Given the description of an element on the screen output the (x, y) to click on. 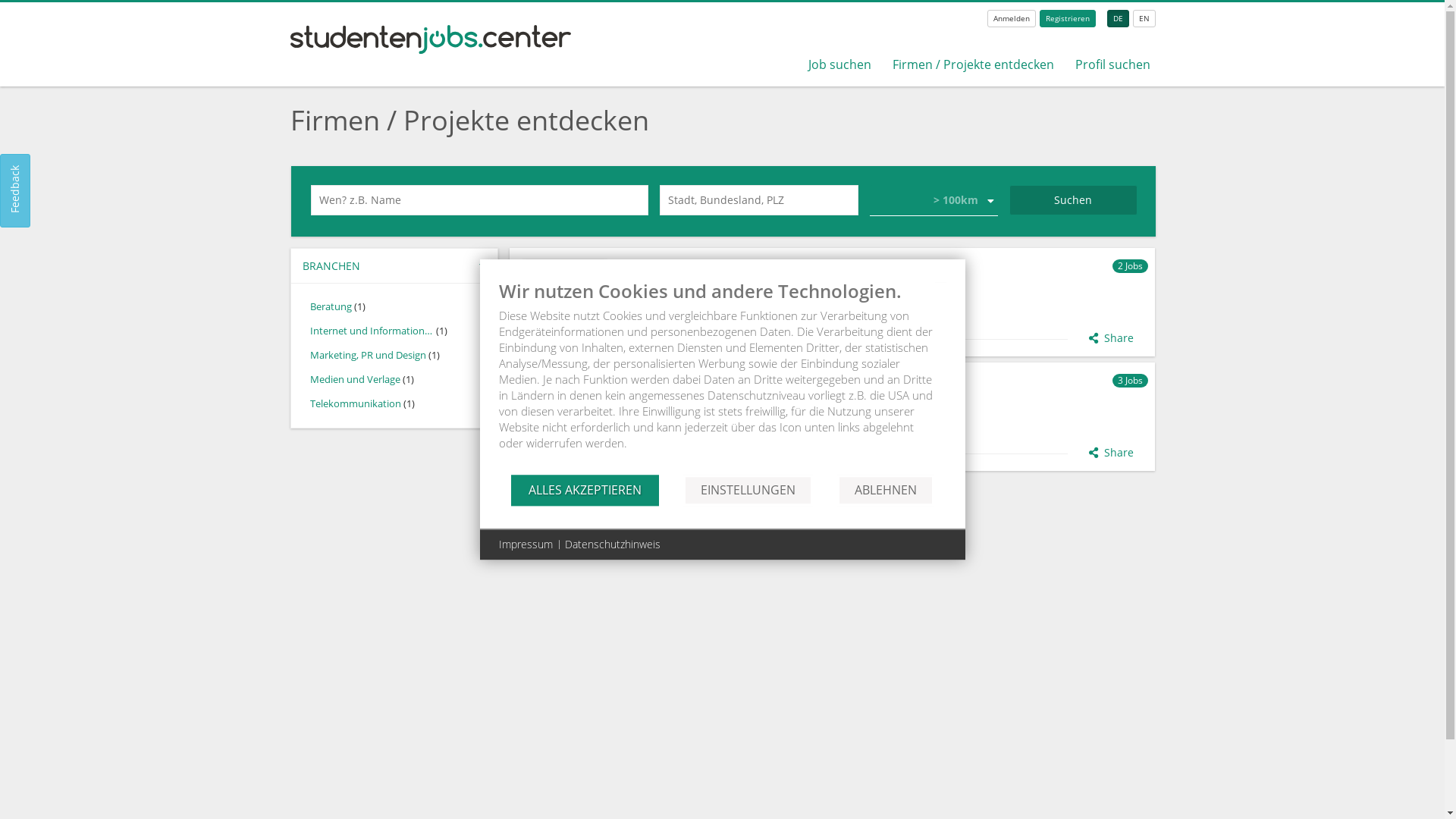
Firmen / Projekte entdecken Element type: text (972, 64)
fonial GmbH Element type: text (885, 266)
 Share Element type: text (1111, 337)
 Share Element type: text (1111, 452)
Feedback Element type: text (36, 168)
ABLEHNEN Element type: text (885, 489)
Homepage Element type: hover (636, 299)
Datenschutzhinweis Element type: text (611, 544)
Facebook Element type: hover (658, 414)
Studenten Job Center Element type: text (430, 49)
Job suchen Element type: text (839, 64)
Registrieren Element type: text (1067, 18)
Profil suchen Element type: text (1112, 64)
VISION UNLTD. CREATIVE WORX GmbH Element type: text (885, 381)
ALLES AKZEPTIEREN Element type: text (584, 489)
EINSTELLUNGEN Element type: text (747, 489)
Suchen Element type: text (1073, 200)
Homepage Element type: hover (636, 414)
EN Element type: text (1143, 18)
Anmelden Element type: text (1011, 18)
Impressum Element type: text (525, 544)
BRANCHEN Element type: text (394, 265)
DE Element type: text (1118, 18)
